Given the description of an element on the screen output the (x, y) to click on. 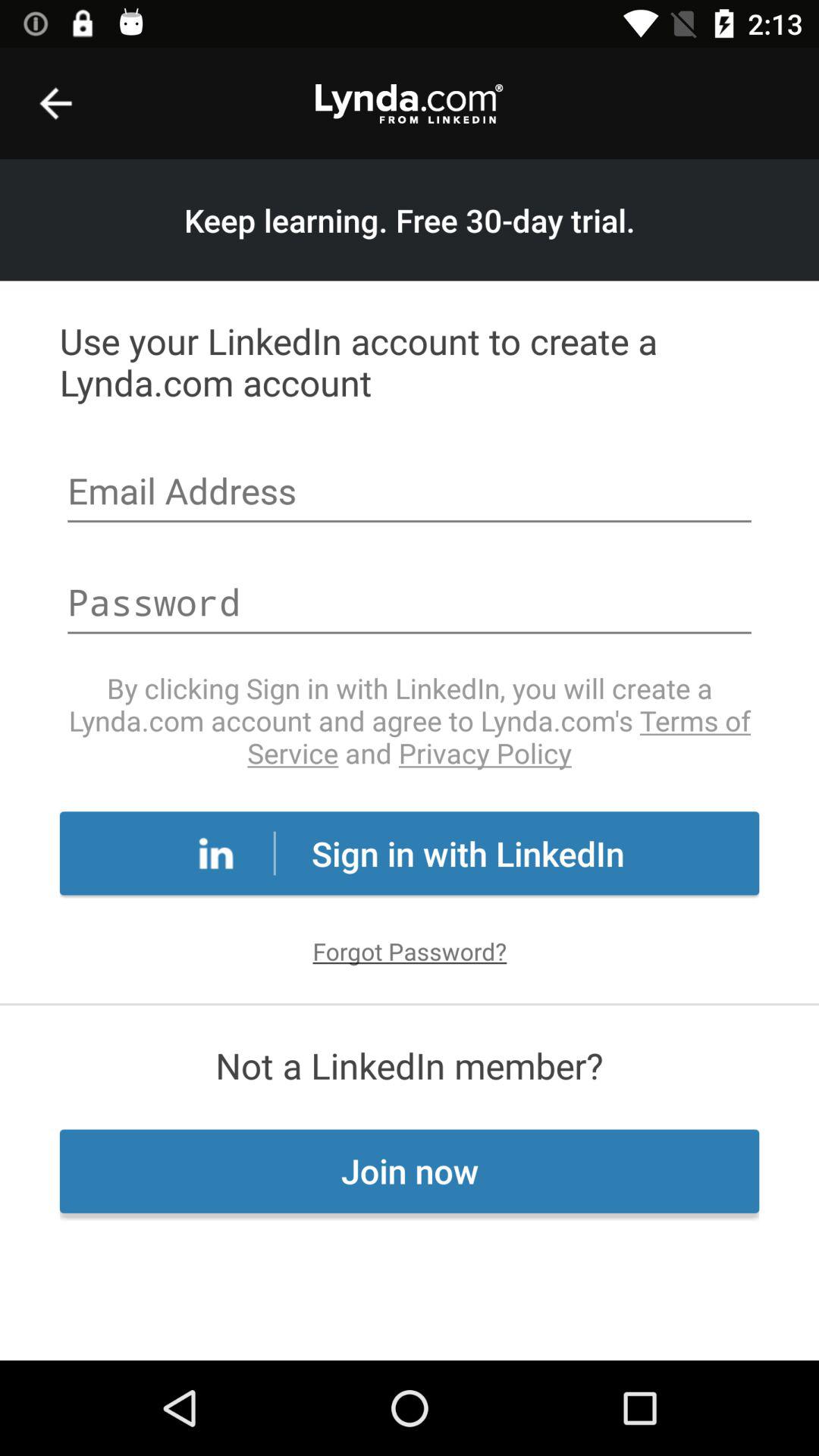
flip to by clicking sign icon (409, 720)
